Given the description of an element on the screen output the (x, y) to click on. 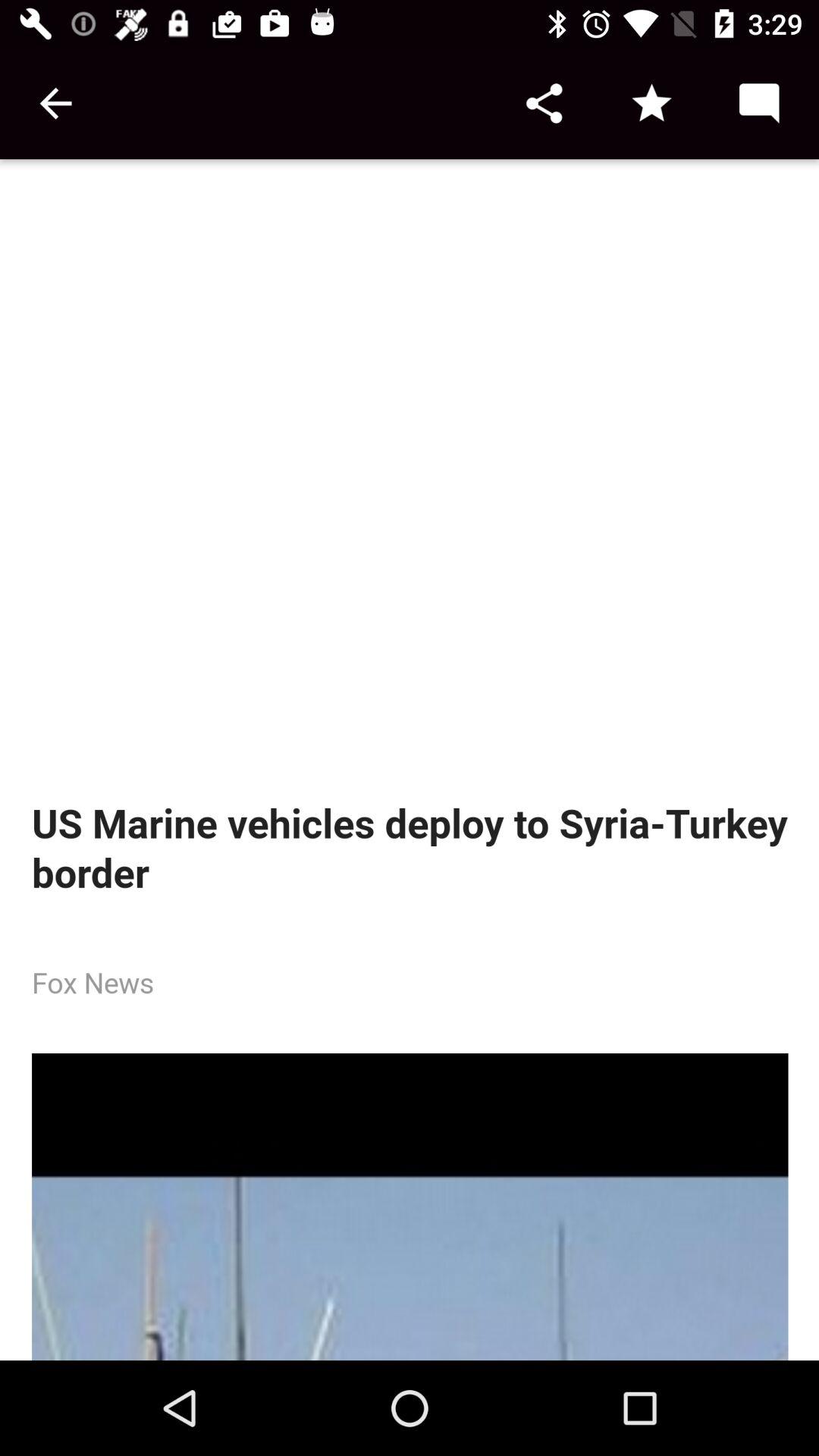
share button (543, 103)
